Given the description of an element on the screen output the (x, y) to click on. 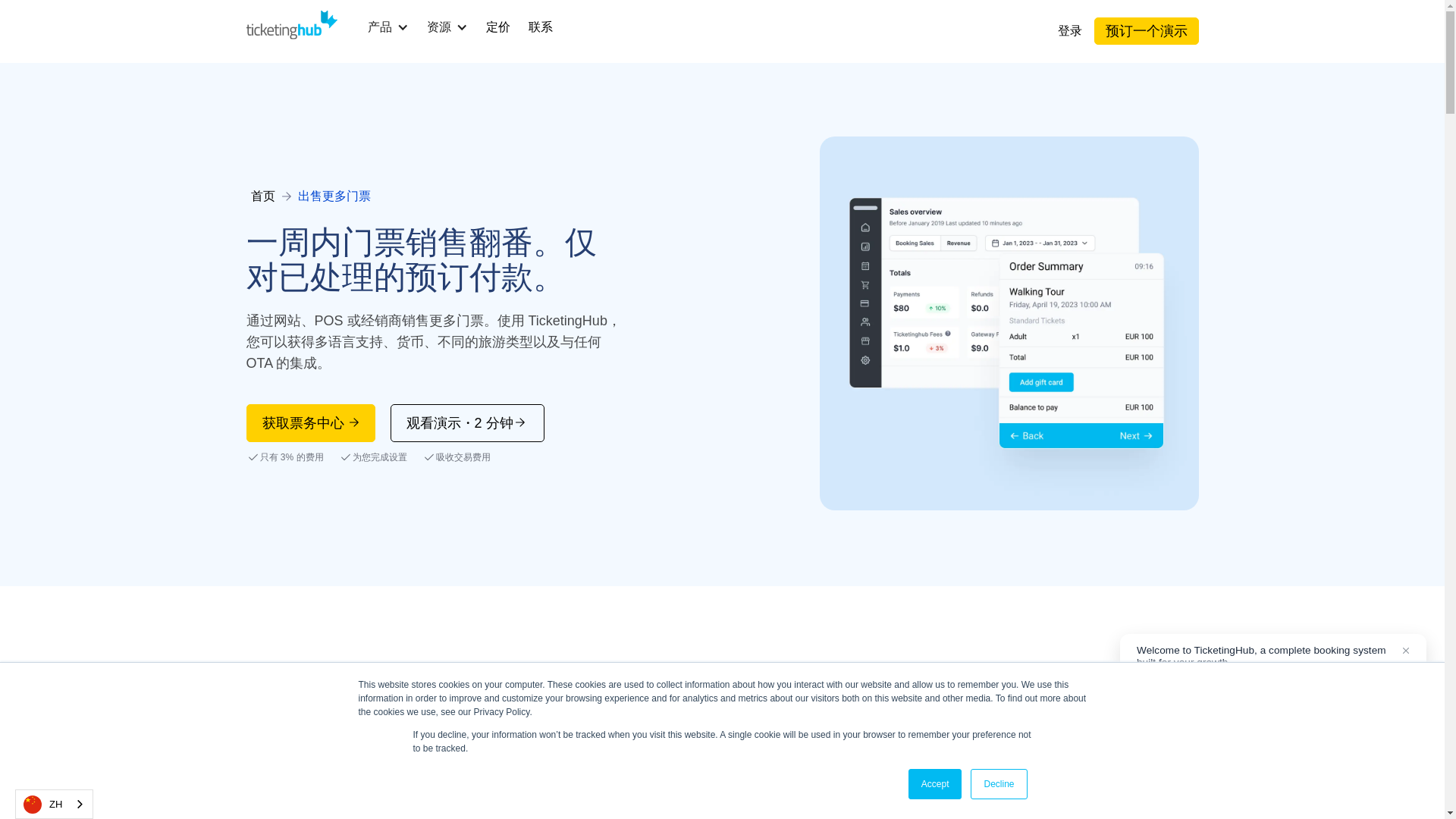
Decline (998, 784)
Accept (935, 784)
